Given the description of an element on the screen output the (x, y) to click on. 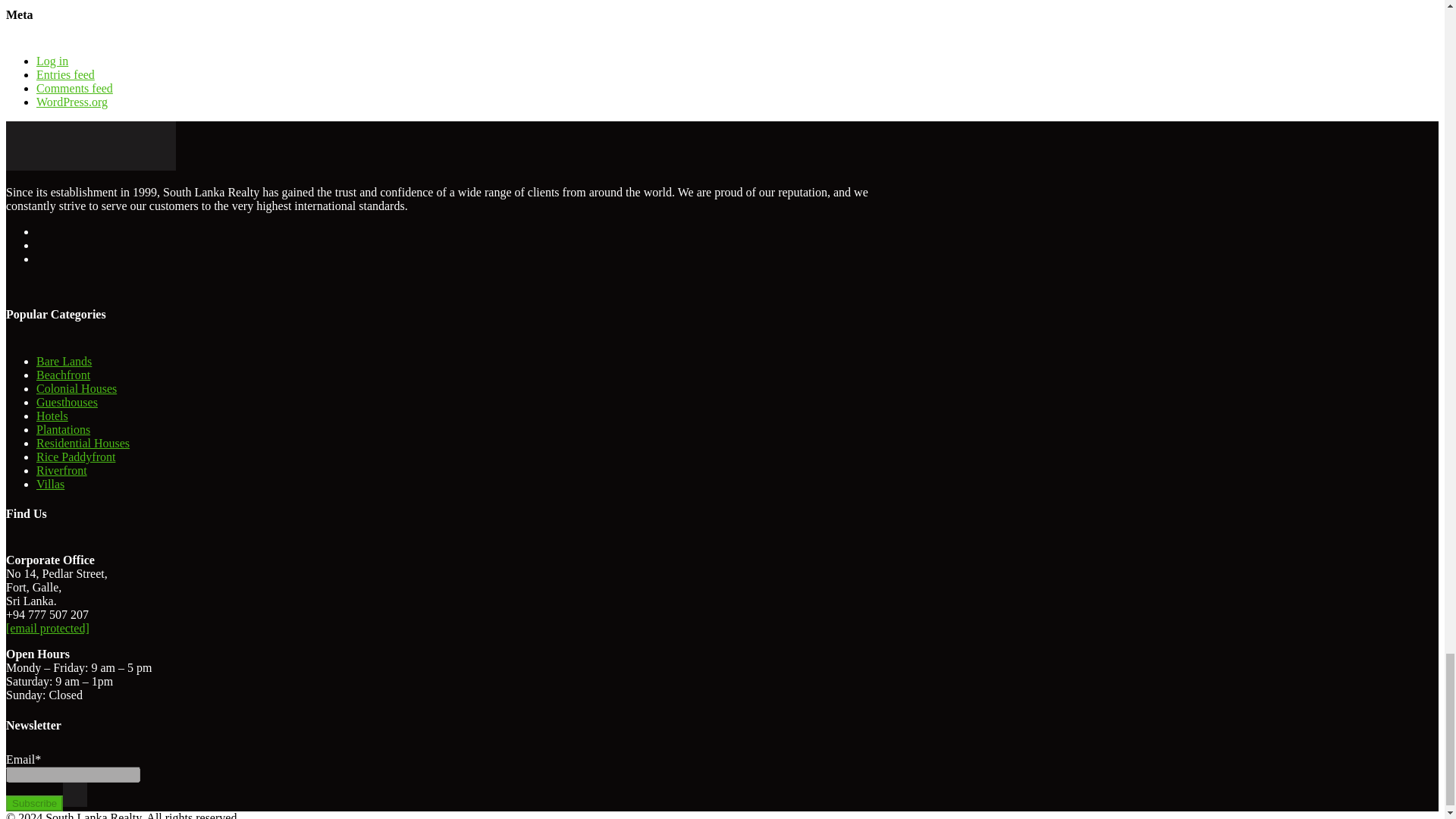
Subscribe (33, 803)
Rice Paddyfront (75, 456)
Guesthouses (66, 401)
Riverfront (61, 470)
Log in (52, 60)
Villas (50, 483)
Bare Lands (63, 360)
Beachfront (63, 374)
WordPress.org (71, 101)
Hotels (52, 415)
Entries feed (65, 74)
Residential Houses (82, 442)
Comments feed (74, 88)
Plantations (63, 429)
Colonial Houses (76, 388)
